Given the description of an element on the screen output the (x, y) to click on. 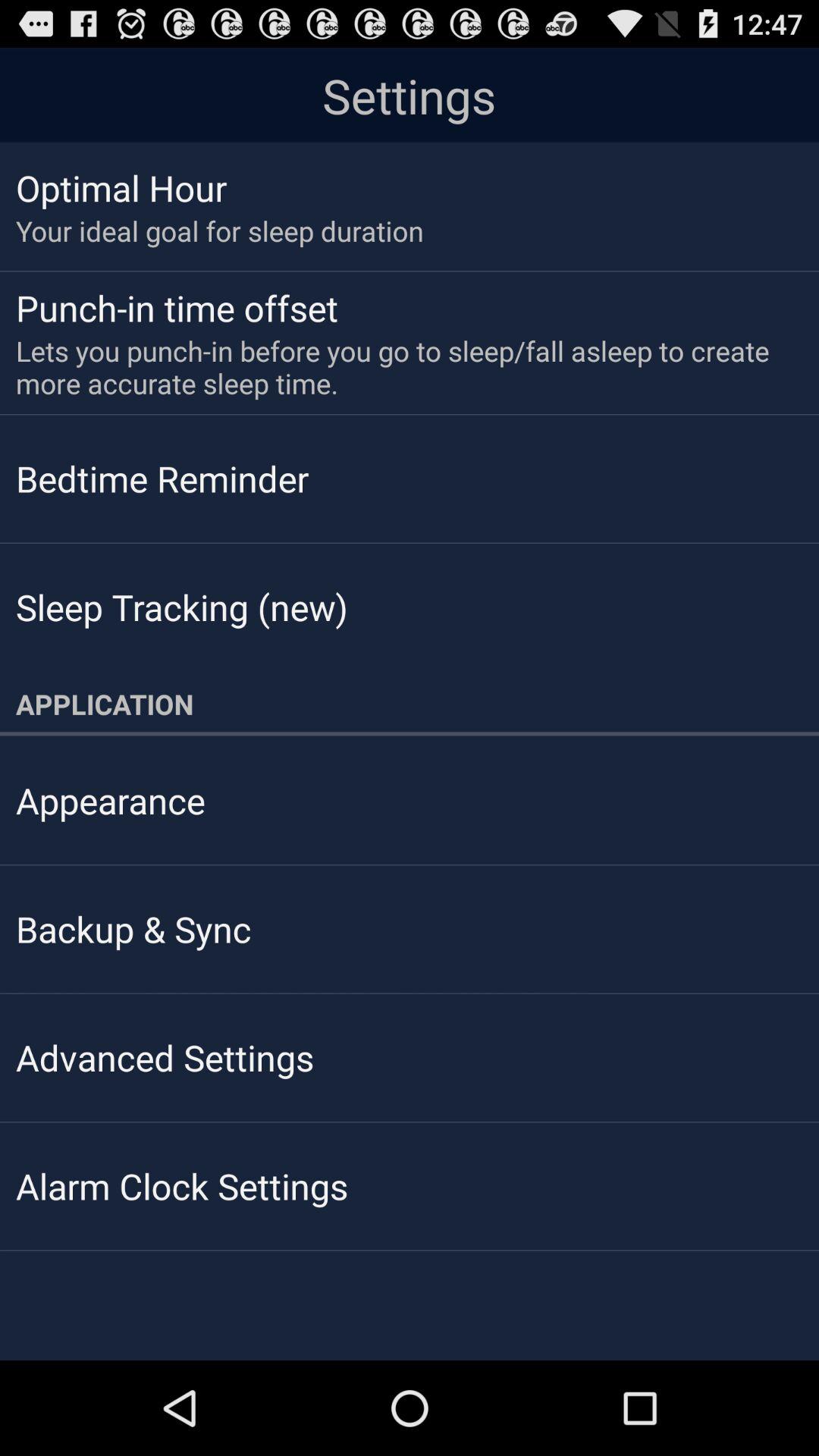
turn on icon below the advanced settings icon (181, 1185)
